Given the description of an element on the screen output the (x, y) to click on. 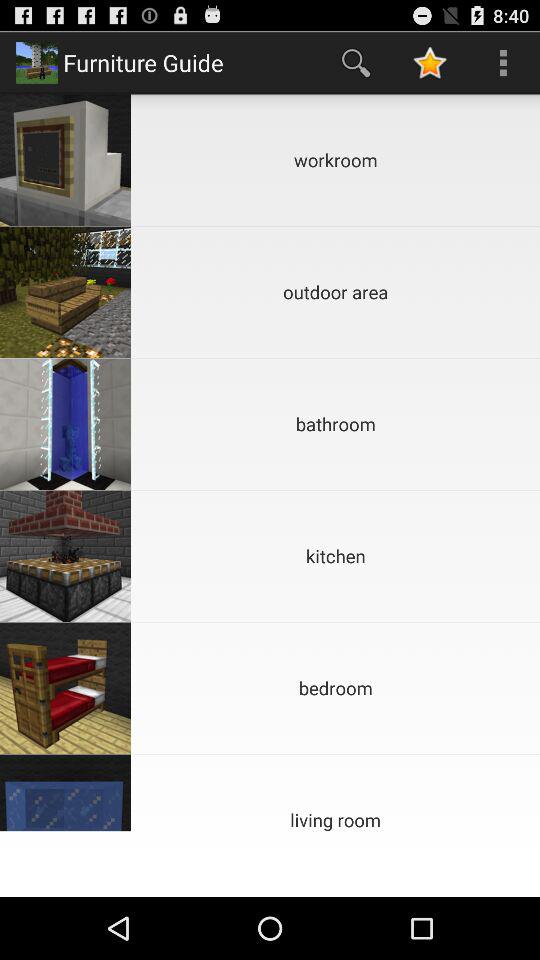
jump until bedroom item (335, 687)
